Given the description of an element on the screen output the (x, y) to click on. 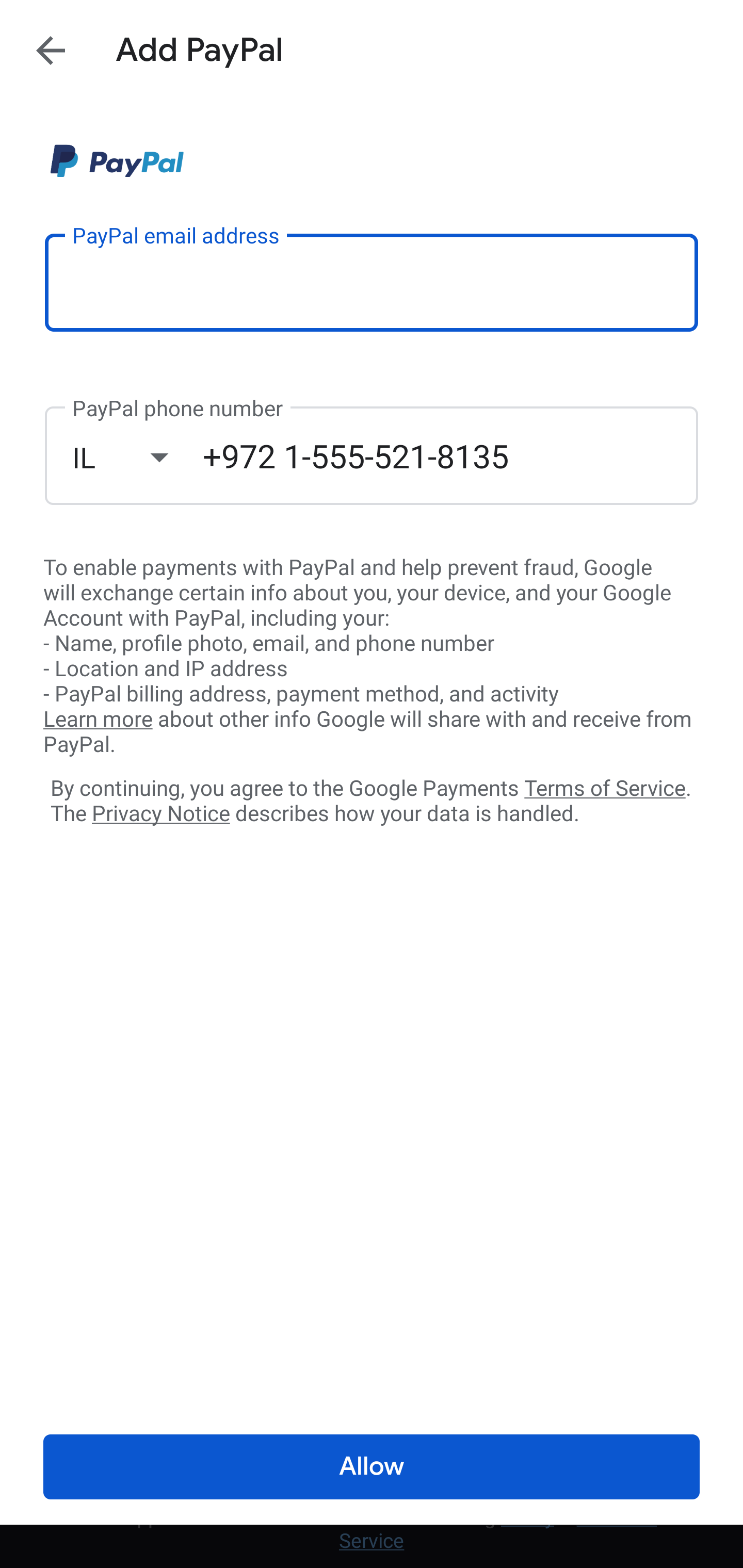
Navigate up (50, 50)
PayPal email address (371, 282)
IL (137, 456)
Learn more (97, 719)
Terms of Service (604, 787)
Privacy Notice (160, 814)
Allow (371, 1466)
